Given the description of an element on the screen output the (x, y) to click on. 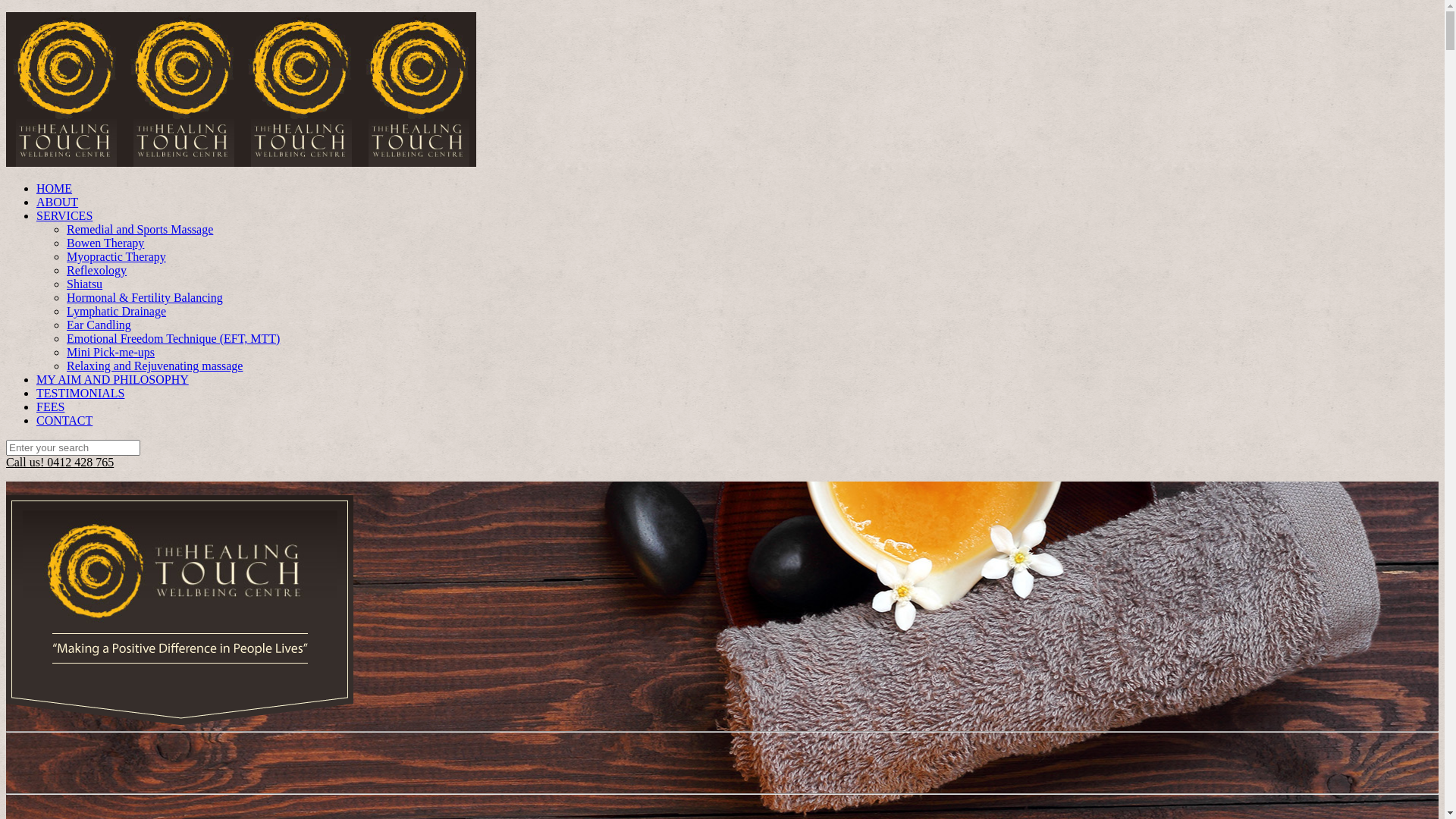
Ear Candling Element type: text (98, 324)
Emotional Freedom Technique (EFT, MTT) Element type: text (172, 338)
CONTACT Element type: text (64, 420)
FEES Element type: text (50, 406)
ABOUT Element type: text (57, 201)
SERVICES Element type: text (64, 215)
Myopractic Therapy Element type: text (116, 256)
TESTIMONIALS Element type: text (80, 392)
Remedial and Sports Massage Element type: text (139, 228)
Healing Touch Element type: hover (241, 162)
Shiatsu Element type: text (84, 283)
Reflexology Element type: text (96, 269)
Mini Pick-me-ups Element type: text (110, 351)
Bowen Therapy Element type: text (105, 242)
MY AIM AND PHILOSOPHY Element type: text (112, 379)
Hormonal & Fertility Balancing Element type: text (144, 297)
Relaxing and Rejuvenating massage Element type: text (154, 365)
Call us! 0412 428 765 Element type: text (59, 461)
HOME Element type: text (54, 188)
Lymphatic Drainage Element type: text (116, 310)
